Given the description of an element on the screen output the (x, y) to click on. 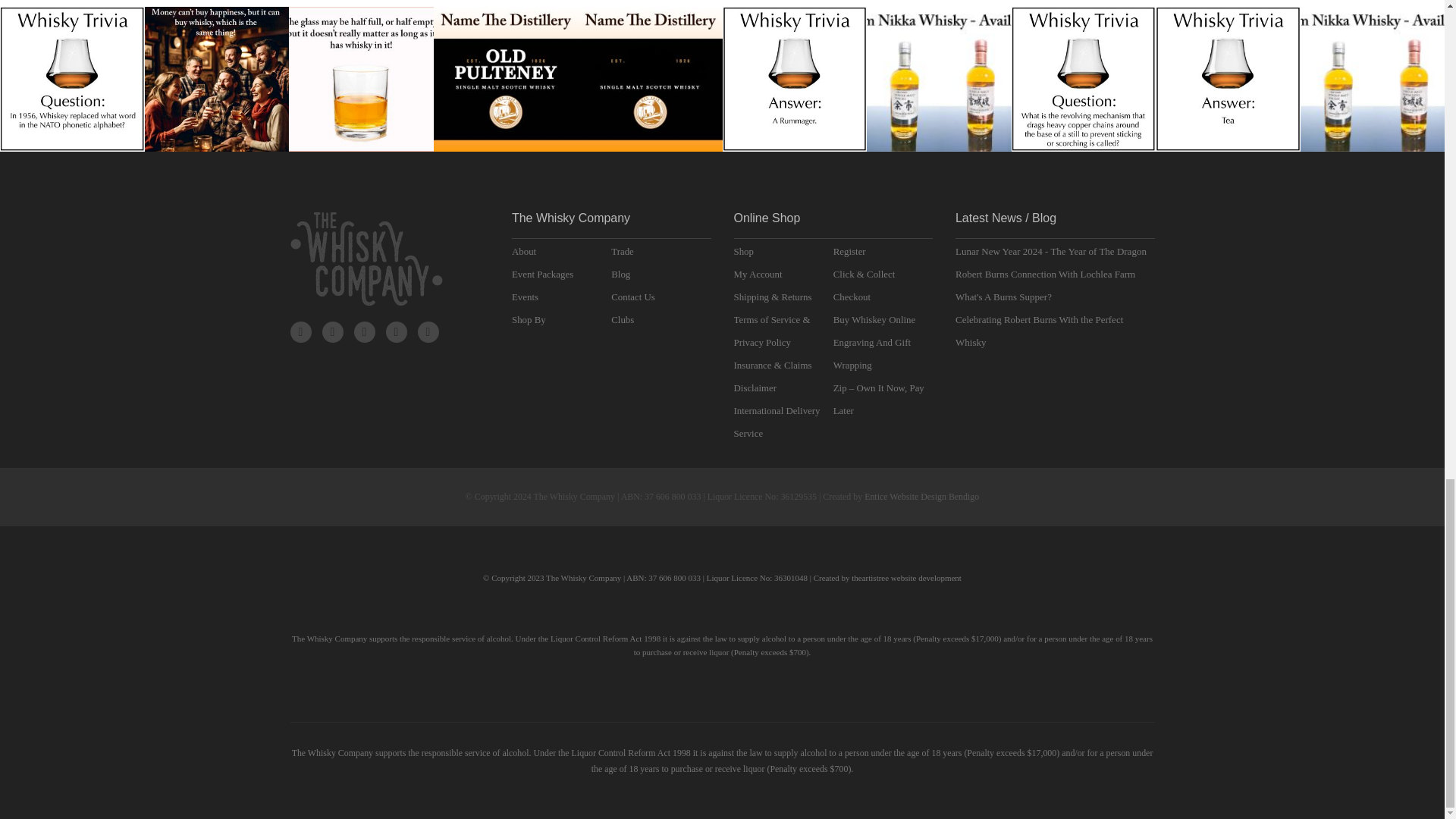
The Whiskey Company (365, 259)
